Given the description of an element on the screen output the (x, y) to click on. 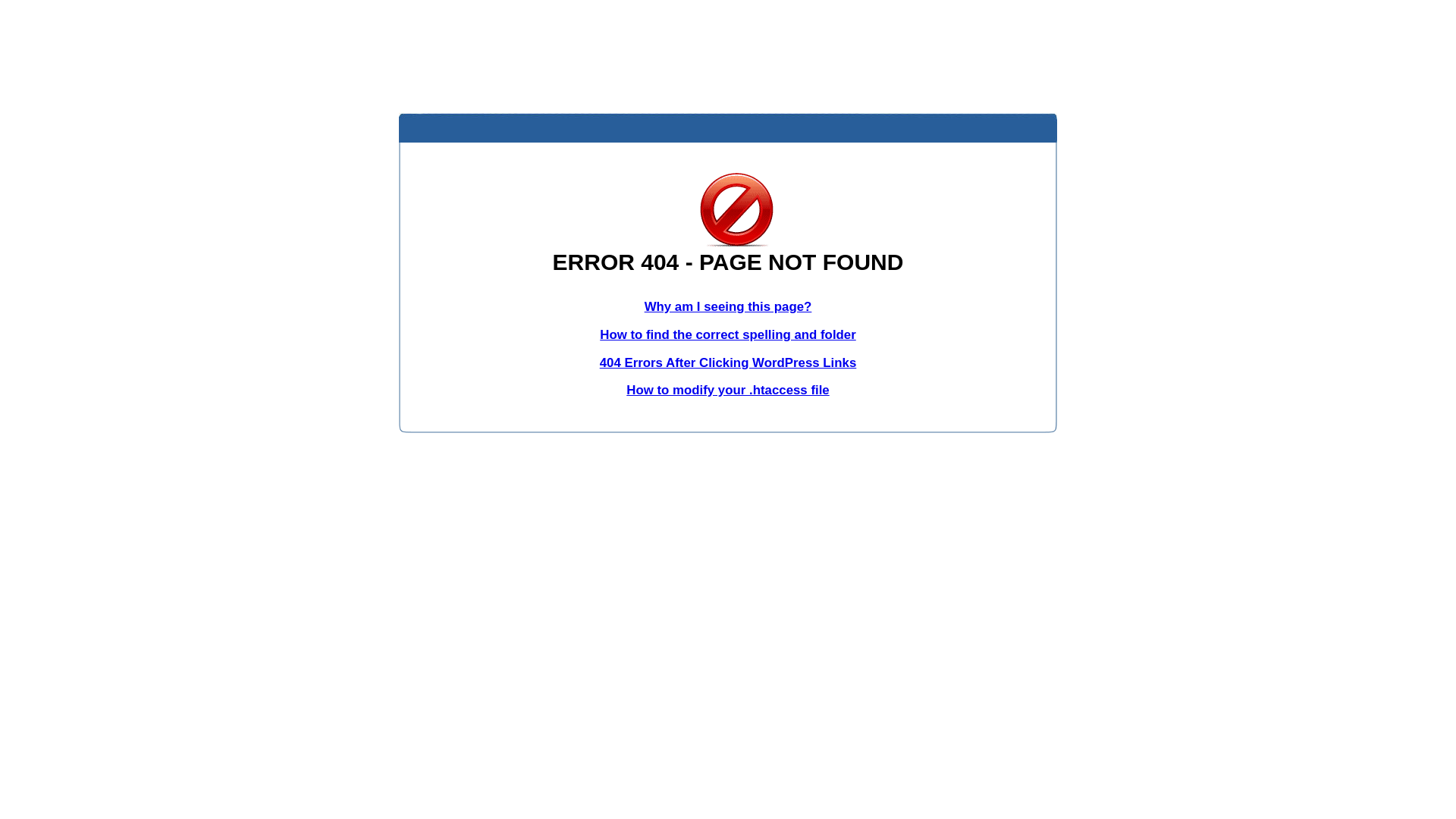
Why am I seeing this page? Element type: text (728, 306)
How to modify your .htaccess file Element type: text (727, 389)
404 Errors After Clicking WordPress Links Element type: text (727, 362)
How to find the correct spelling and folder Element type: text (727, 334)
